Given the description of an element on the screen output the (x, y) to click on. 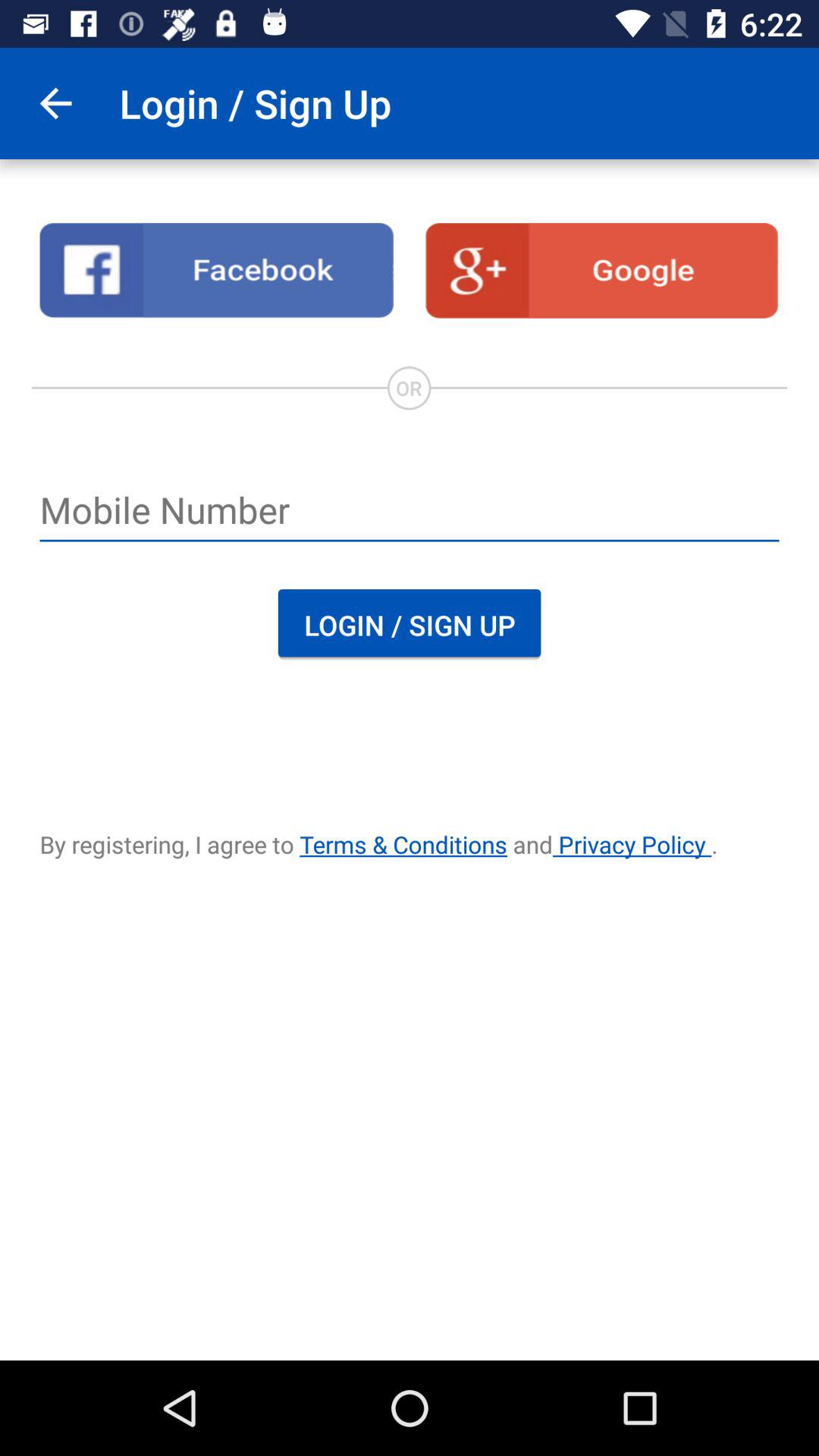
enter your phone (409, 511)
